Given the description of an element on the screen output the (x, y) to click on. 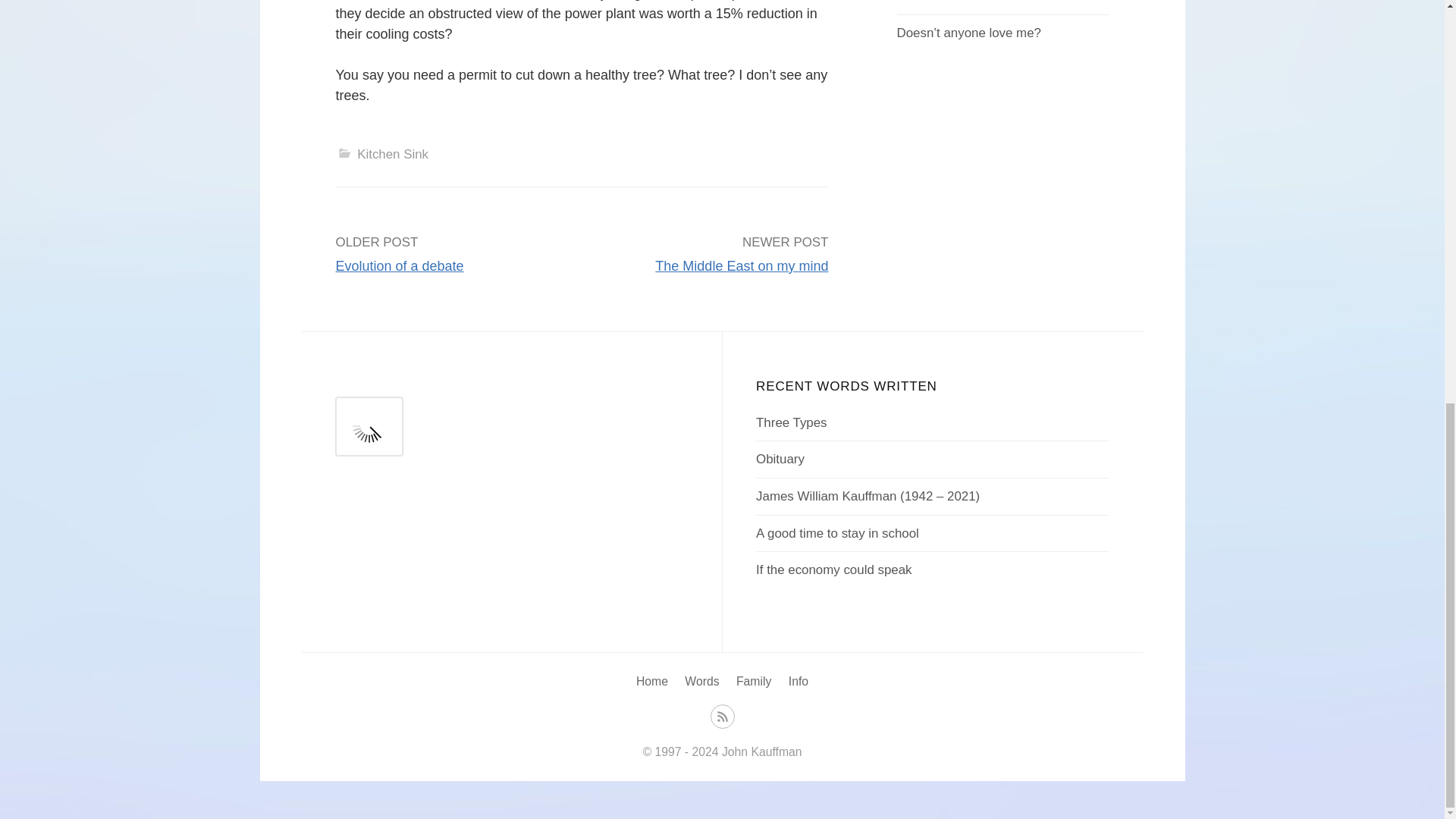
Three Types (791, 422)
The Middle East on my mind (741, 265)
Obituary (780, 459)
If the economy could speak (833, 569)
Home (652, 680)
Family (753, 680)
Words (701, 680)
RSS (721, 715)
Info (798, 680)
Evolution of a debate (398, 265)
